Given the description of an element on the screen output the (x, y) to click on. 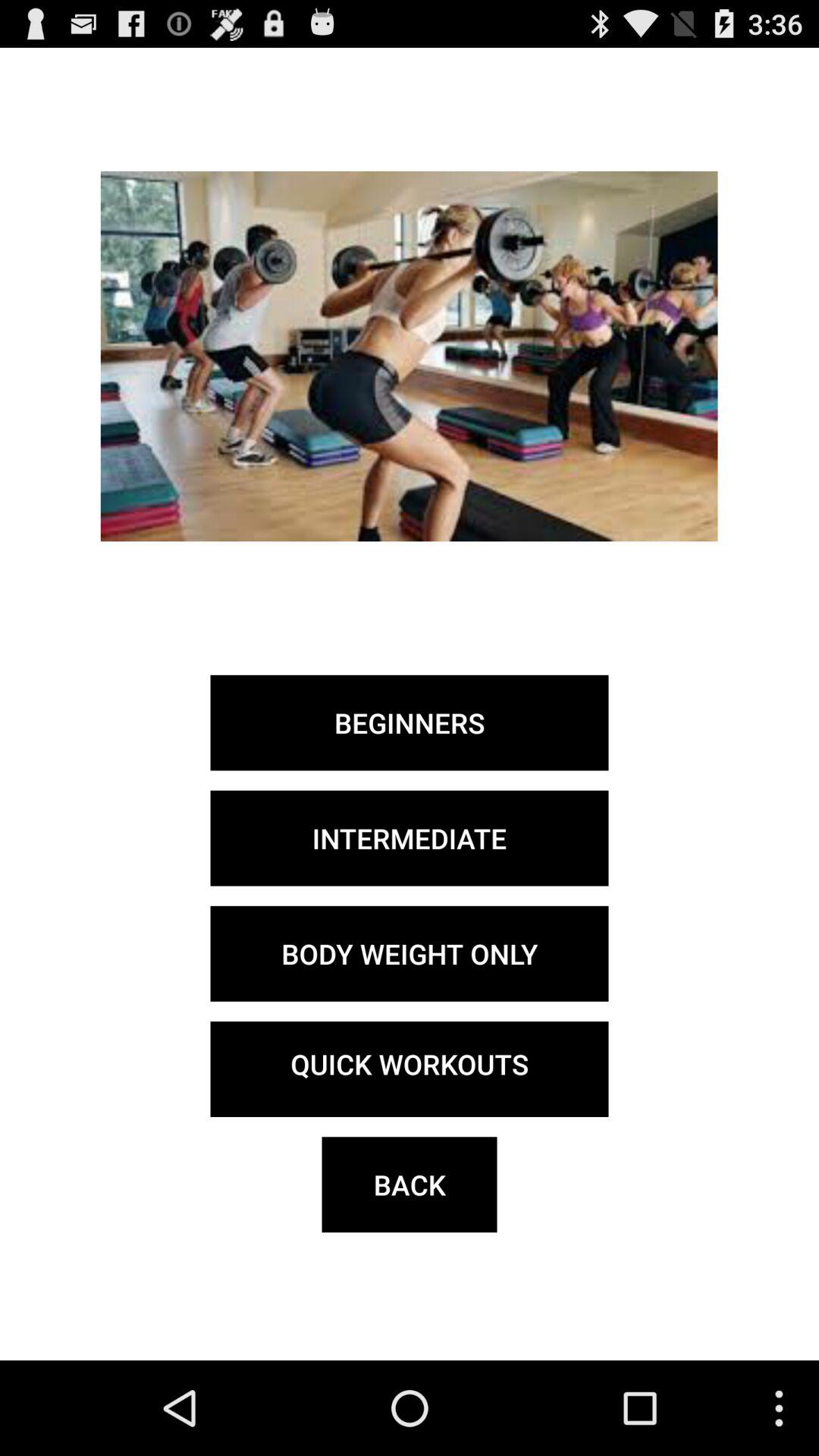
jump until the beginners (409, 722)
